Given the description of an element on the screen output the (x, y) to click on. 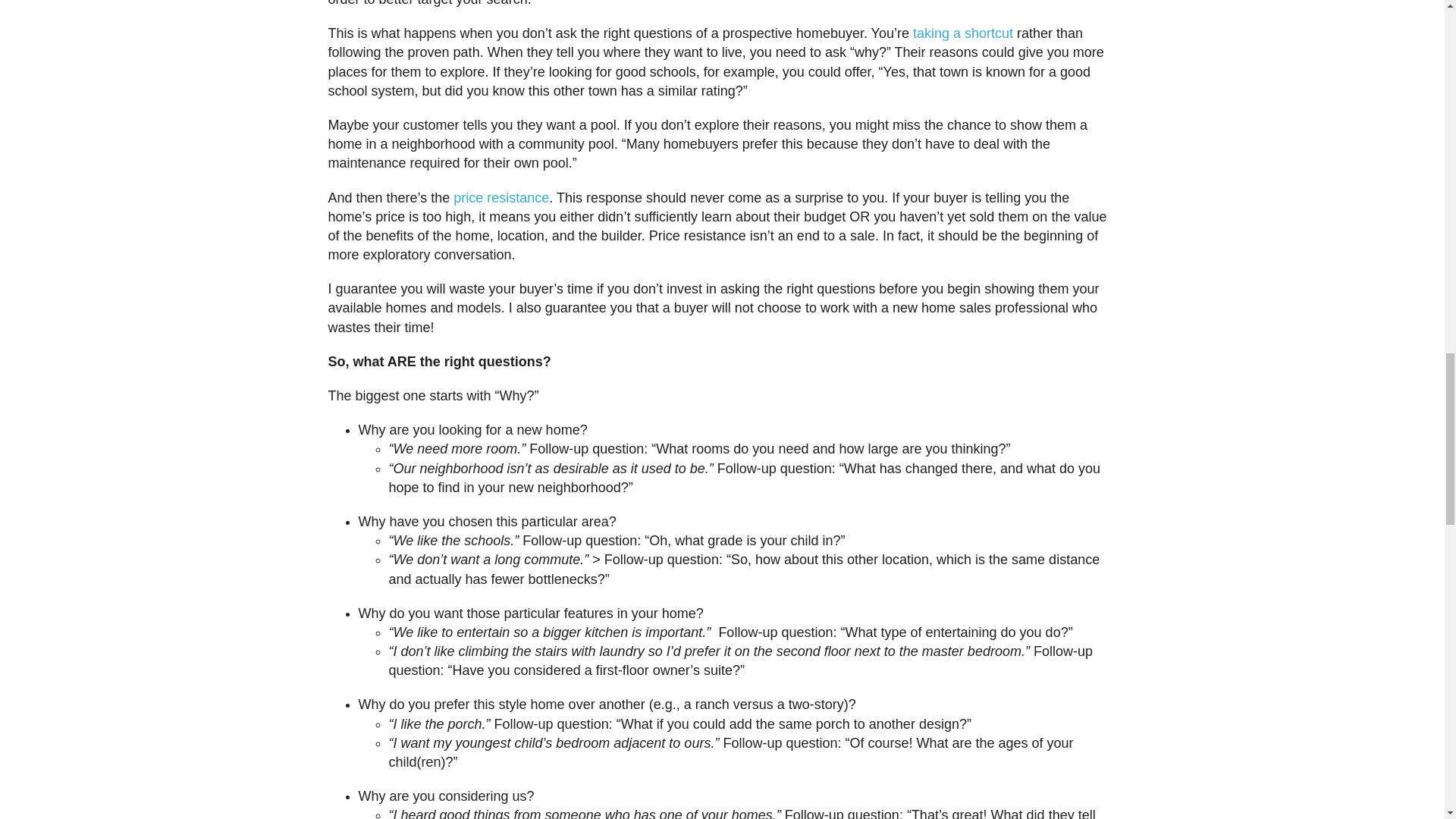
price resistance (500, 197)
taking a shortcut (964, 32)
